Given the description of an element on the screen output the (x, y) to click on. 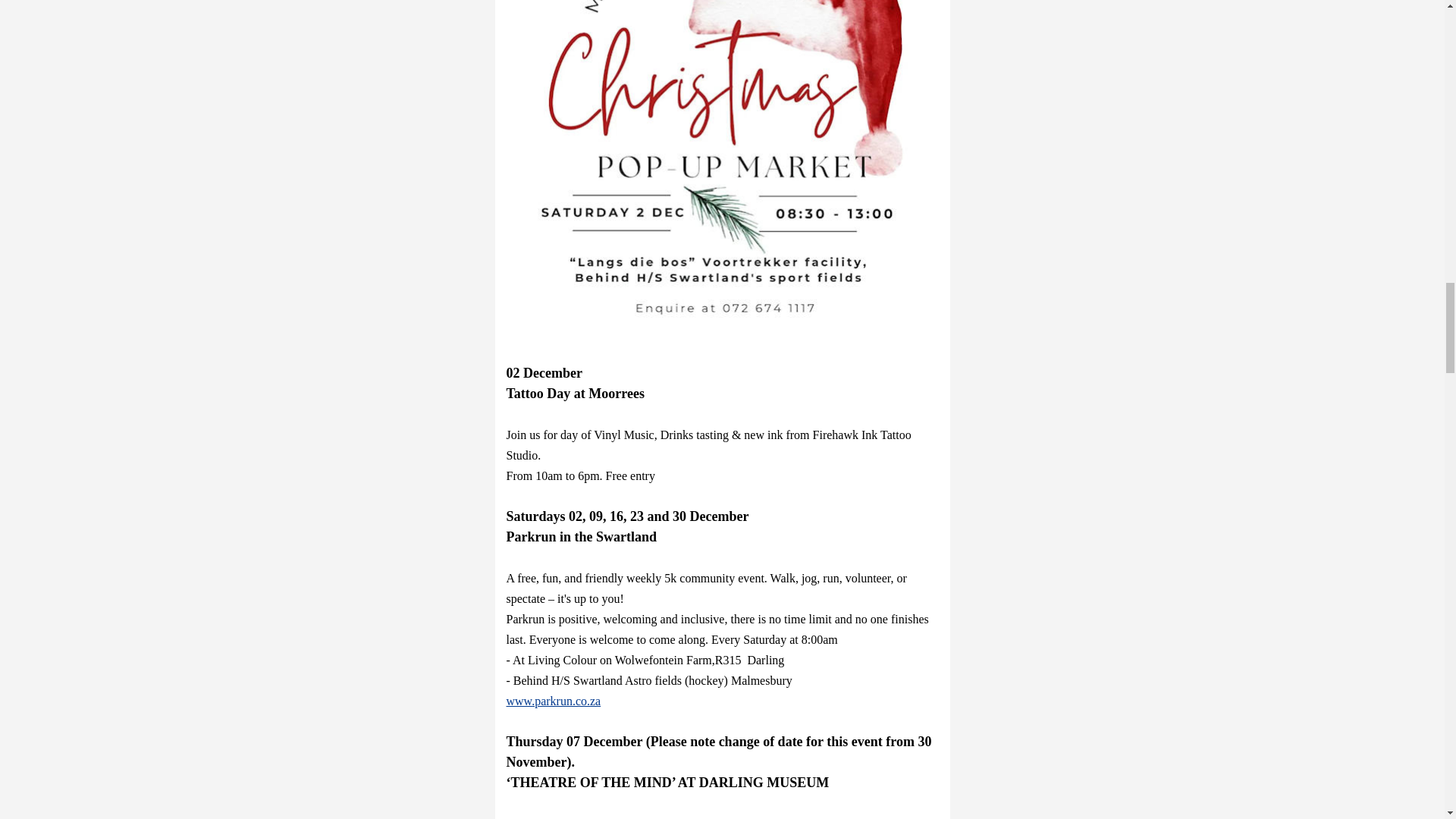
www.parkrun.co.za (553, 700)
